Given the description of an element on the screen output the (x, y) to click on. 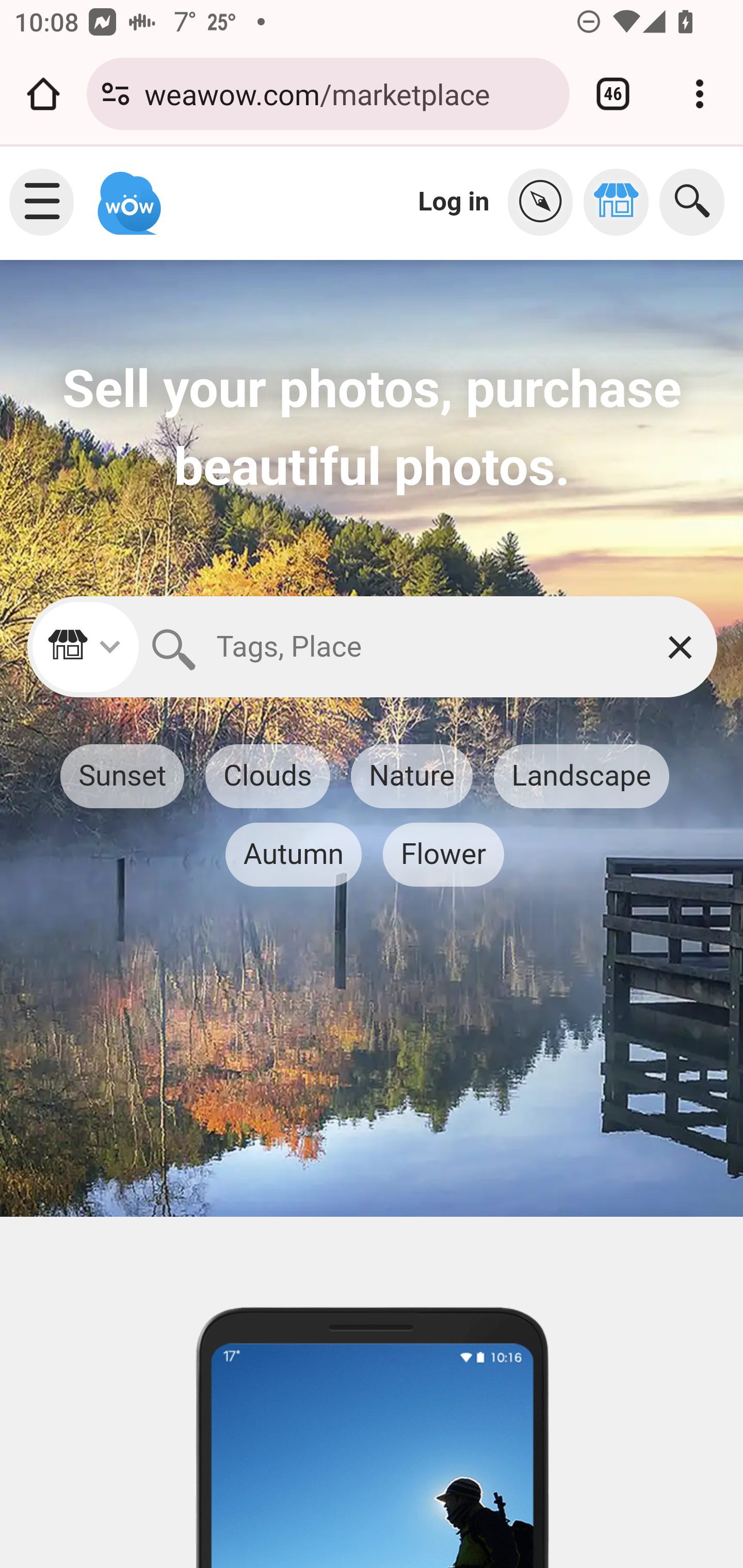
Open the home page (43, 93)
Connection is secure (115, 93)
Switch or close tabs (612, 93)
Customize and control Google Chrome (699, 93)
weawow.com/marketplace (349, 92)
Weawow (127, 194)
 (545, 201)
 (621, 201)
Log in (453, 201)
Sunset (122, 776)
Clouds (266, 776)
Nature (411, 776)
Landscape (580, 776)
Autumn (292, 854)
Flower (442, 854)
